Given the description of an element on the screen output the (x, y) to click on. 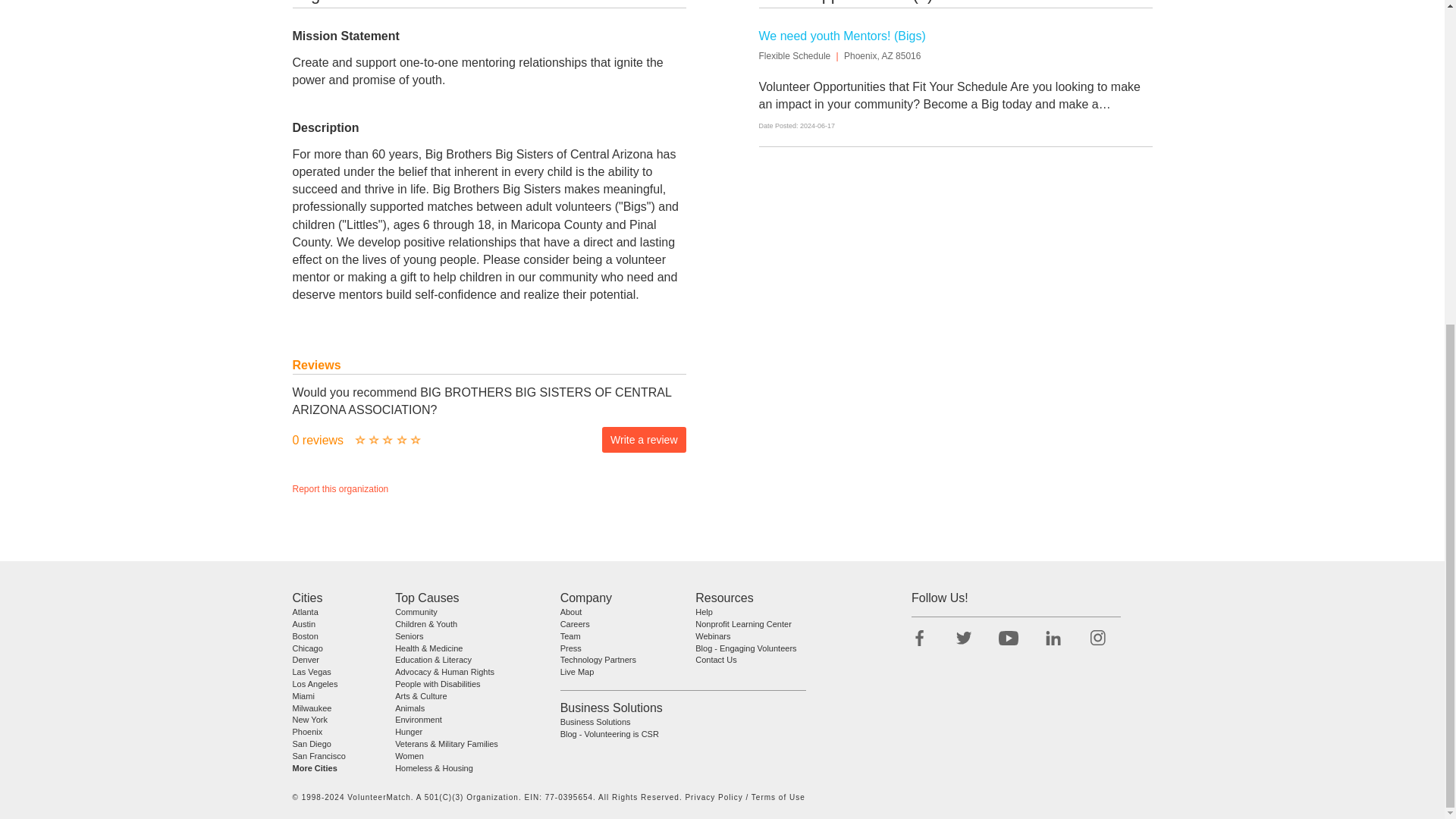
Los Angeles (314, 683)
Denver (305, 659)
Opens a widget where you can find more information (57, 261)
Report this organization (340, 489)
Atlanta (305, 611)
Austin (303, 623)
Las Vegas (311, 671)
Write a review (643, 439)
Chicago (307, 646)
Boston (305, 635)
